Given the description of an element on the screen output the (x, y) to click on. 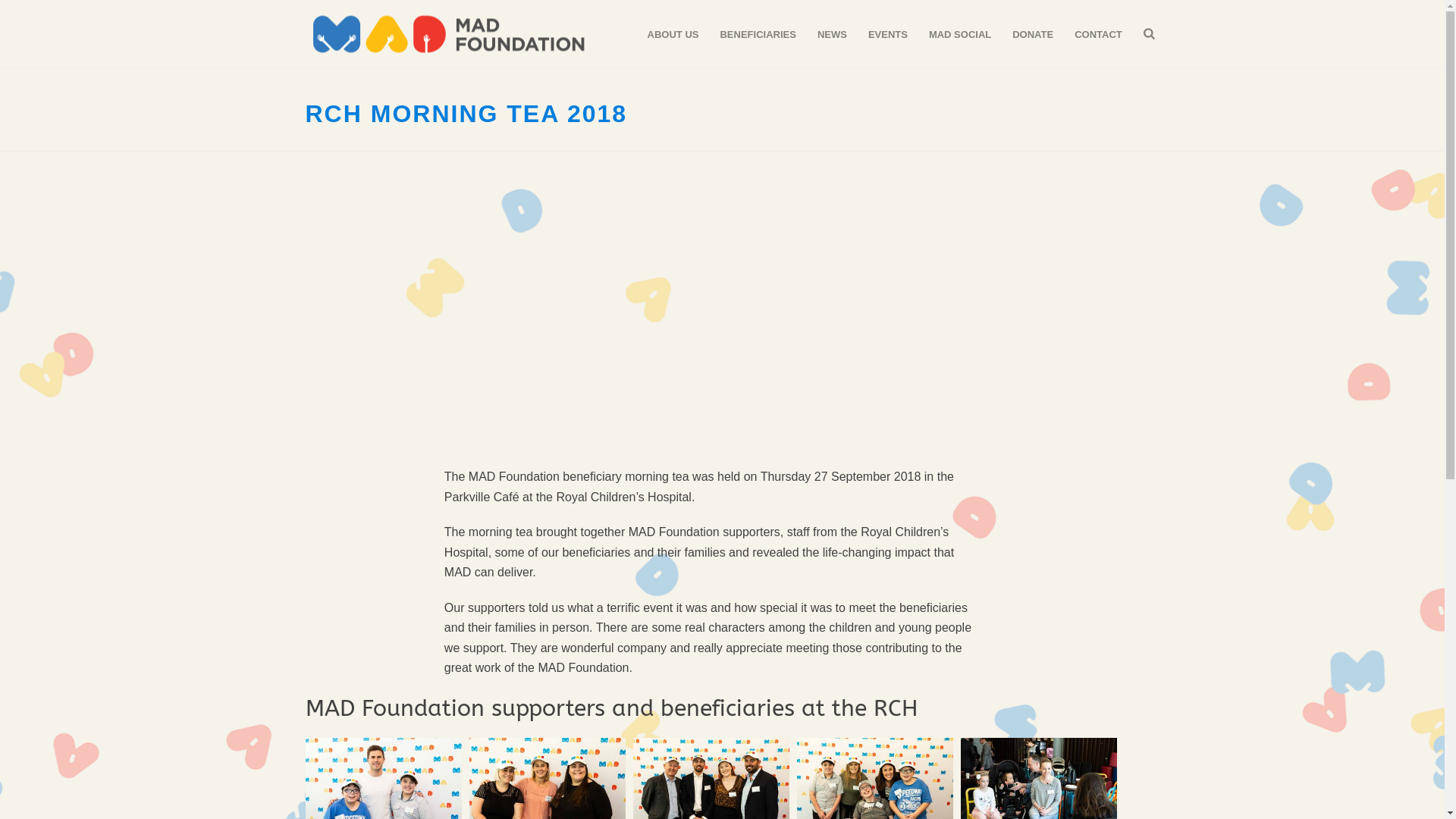
EVENTS Element type: text (887, 34)
DONATE Element type: text (1032, 34)
NEWS Element type: text (831, 34)
CONTACT Element type: text (1097, 34)
MAD SOCIAL Element type: text (959, 34)
ABOUT US Element type: text (673, 34)
BENEFICIARIES Element type: text (757, 34)
